Given the description of an element on the screen output the (x, y) to click on. 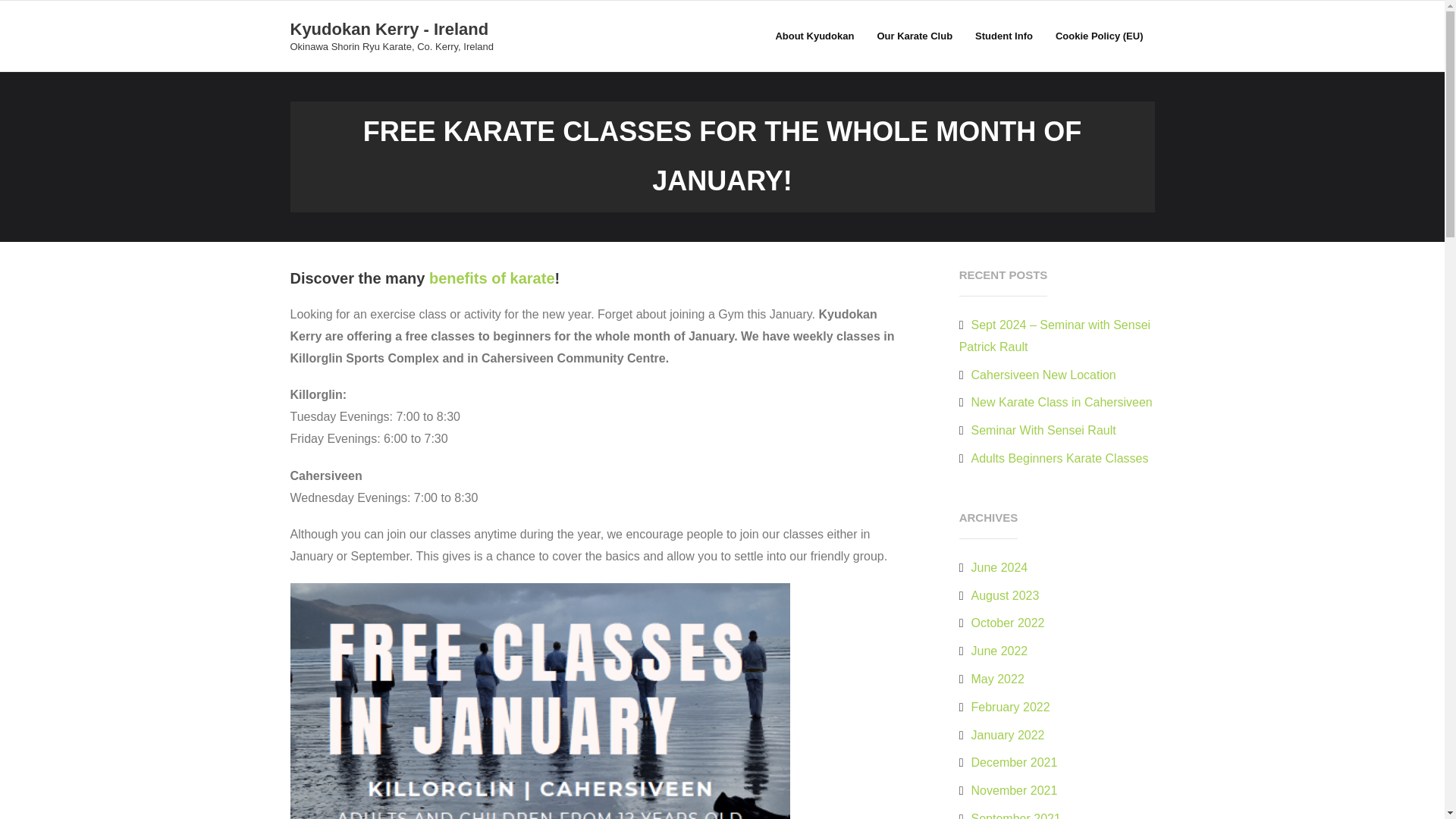
Student Info (1003, 35)
Okinawa Shorin Ryu Karate, Co. Kerry, Ireland (391, 46)
Our Karate Club (913, 35)
About Kyudokan (813, 35)
